Given the description of an element on the screen output the (x, y) to click on. 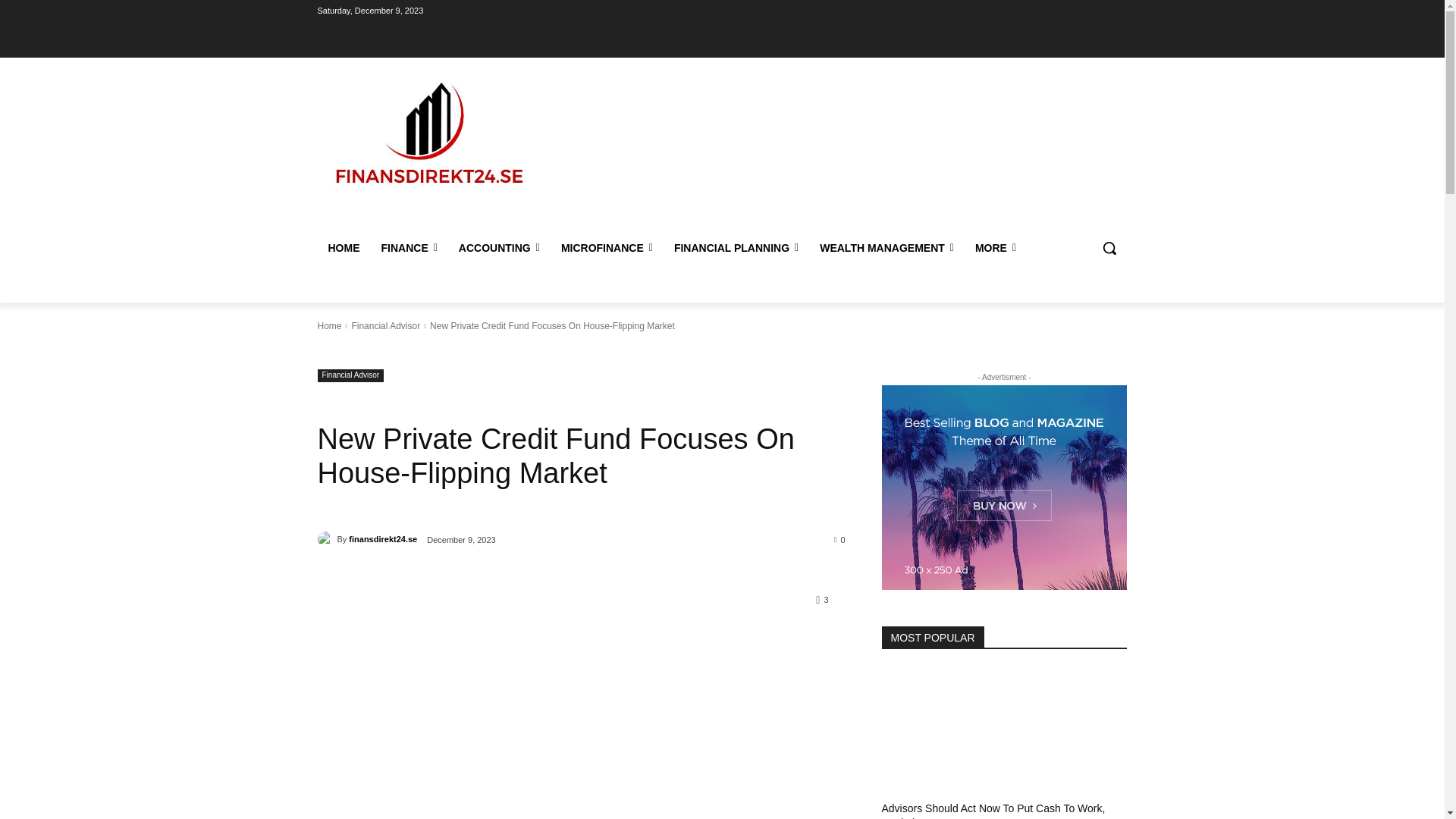
finansdirekt24.se (326, 539)
View all posts in Financial Advisor (385, 326)
ACCOUNTING (499, 248)
FINANCE (407, 248)
HOME (343, 248)
